Given the description of an element on the screen output the (x, y) to click on. 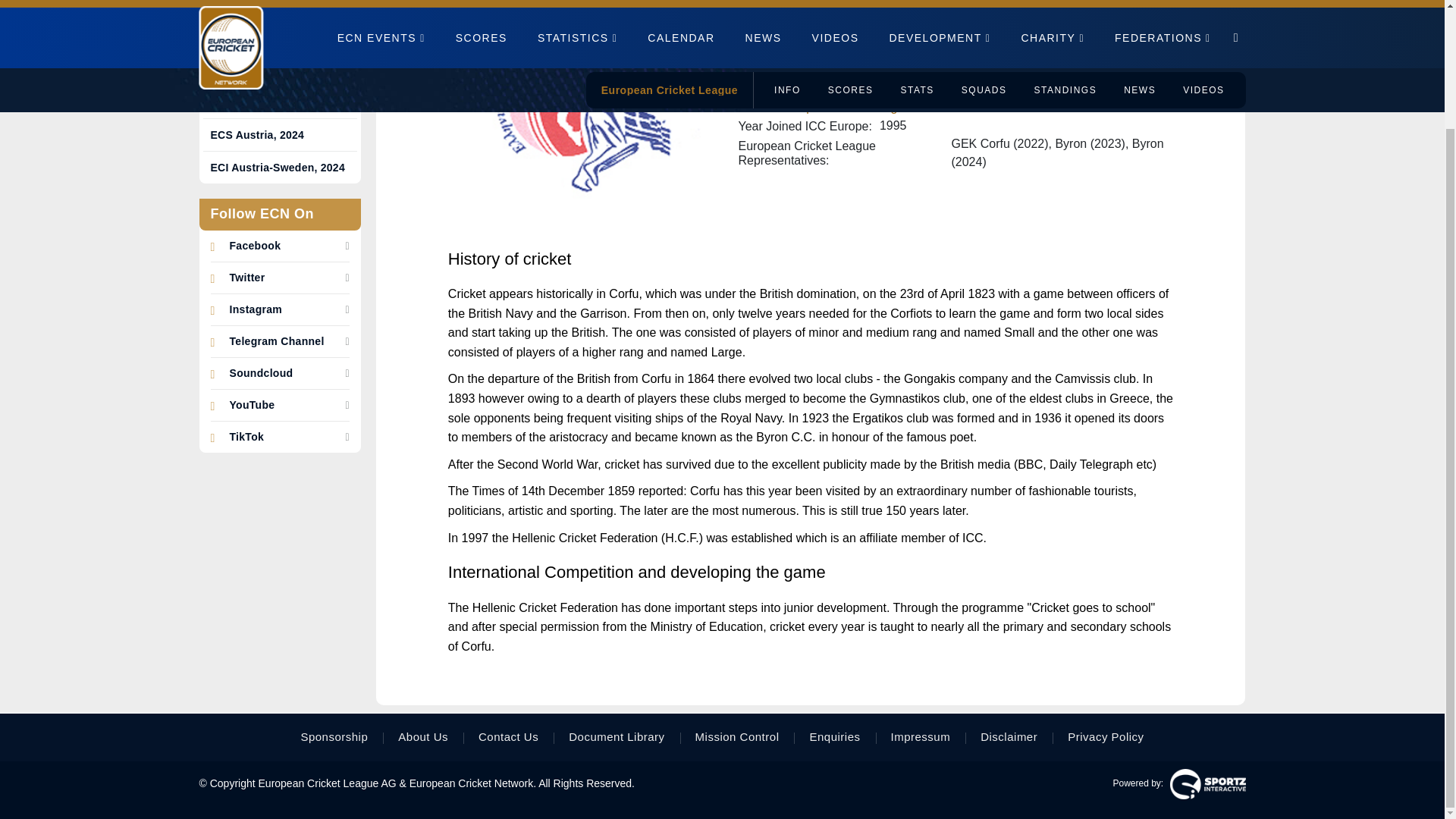
ecn.cricket (260, 373)
ecn.cricket (275, 341)
ecn.cricket (254, 245)
EuropeanCricket (246, 277)
ecn.cricket (245, 437)
ecn.cricket (251, 405)
ecn.cricket (255, 309)
